Given the description of an element on the screen output the (x, y) to click on. 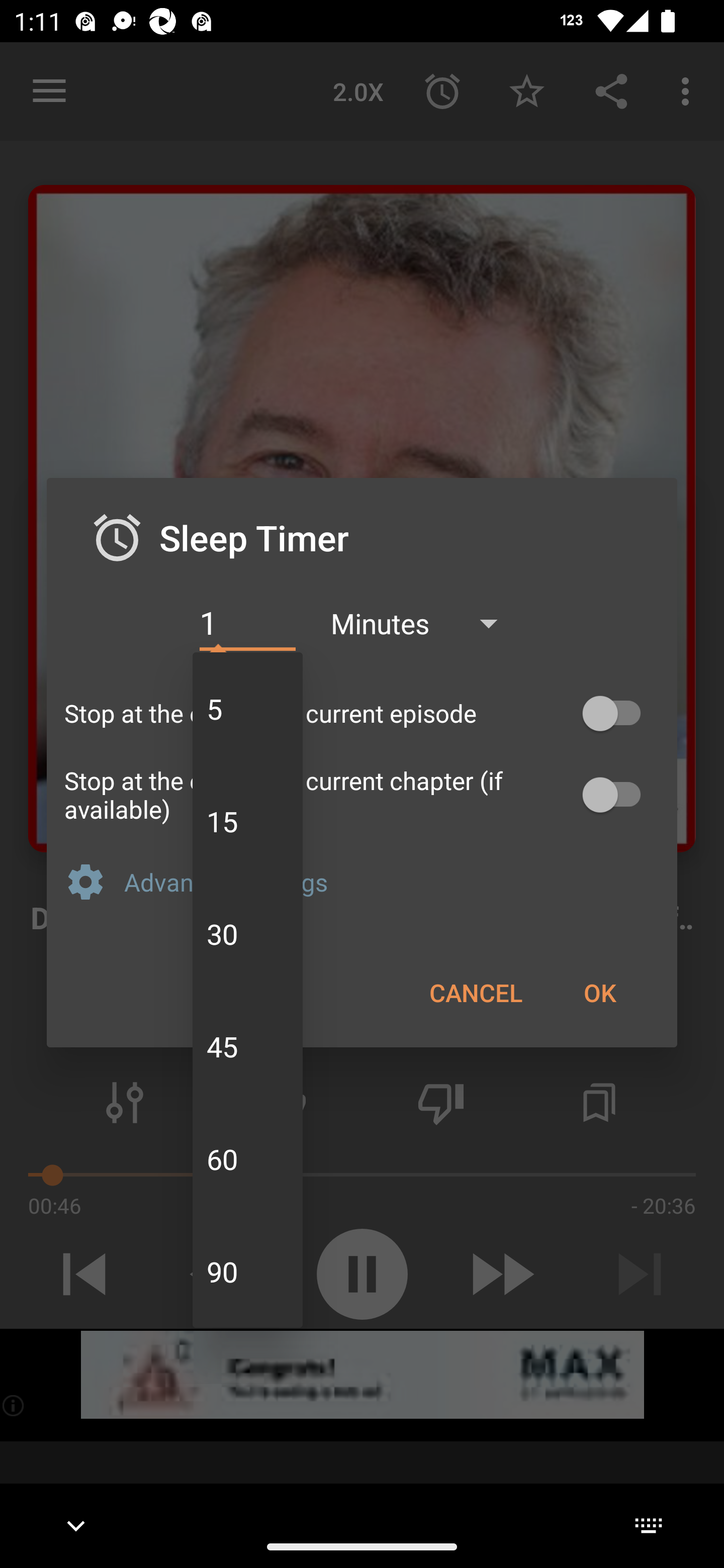
1 (247, 623)
Minutes (423, 623)
Stop at the end of the current episode (361, 712)
Advanced settings (391, 881)
CANCEL (475, 992)
OK (599, 992)
